Given the description of an element on the screen output the (x, y) to click on. 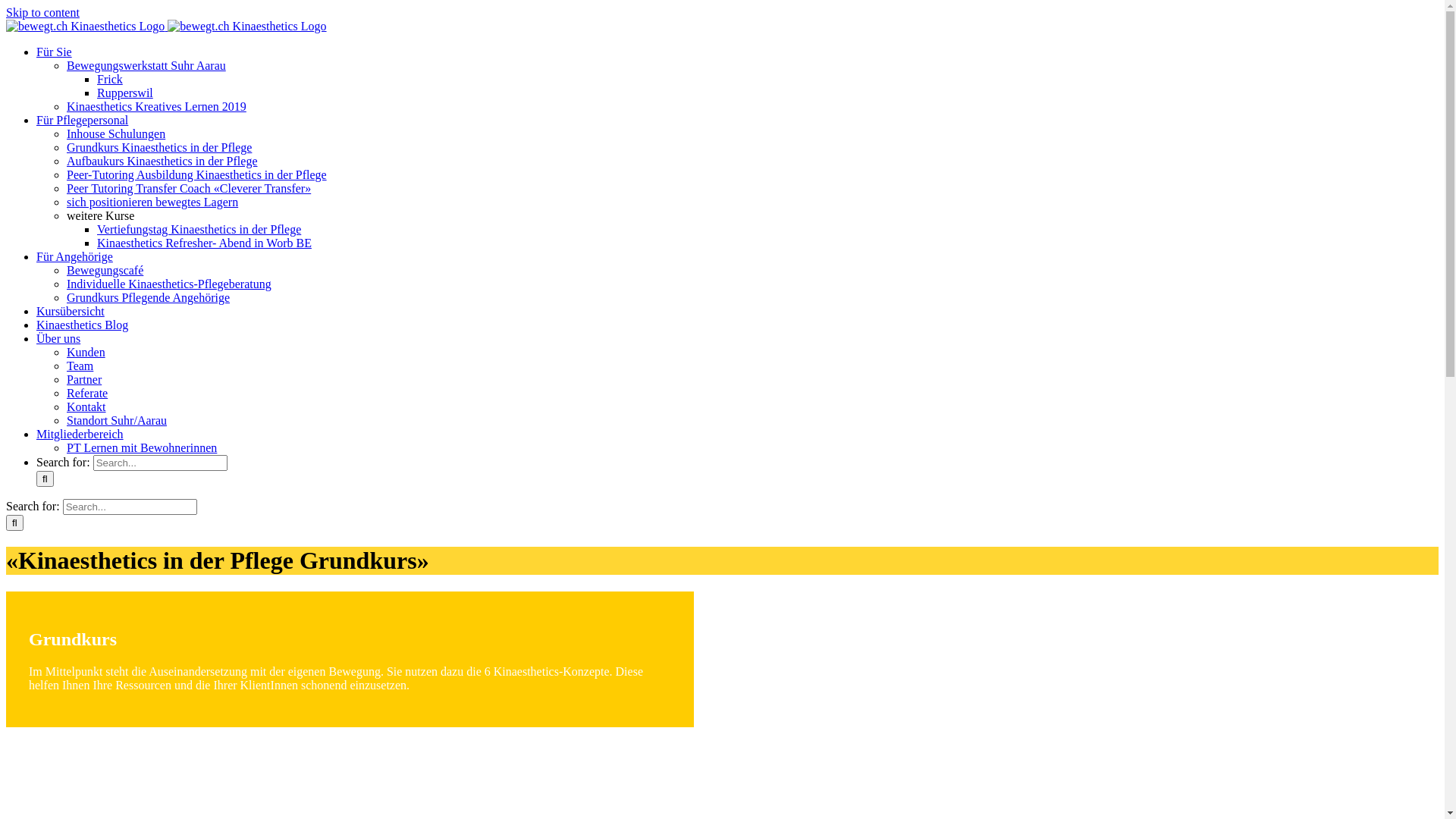
Kunden Element type: text (85, 351)
Inhouse Schulungen Element type: text (115, 133)
Aufbaukurs Kinaesthetics in der Pflege Element type: text (161, 160)
sich positionieren bewegtes Lagern Element type: text (152, 201)
Frick Element type: text (109, 78)
weitere Kurse Element type: text (100, 215)
Rupperswil Element type: text (125, 92)
Kontakt Element type: text (86, 406)
Referate Element type: text (86, 392)
Peer-Tutoring Ausbildung Kinaesthetics in der Pflege Element type: text (196, 174)
Kinaesthetics Kreatives Lernen 2019 Element type: text (156, 106)
Partner Element type: text (83, 379)
PT Lernen mit Bewohnerinnen Element type: text (141, 447)
Team Element type: text (79, 365)
Standort Suhr/Aarau Element type: text (116, 420)
Kinaesthetics Blog Element type: text (82, 324)
Grundkurs Kinaesthetics in der Pflege Element type: text (158, 147)
Bewegungswerkstatt Suhr Aarau Element type: text (145, 65)
Skip to content Element type: text (42, 12)
Mitgliederbereich Element type: text (79, 433)
Individuelle Kinaesthetics-Pflegeberatung Element type: text (168, 283)
Kinaesthetics Refresher- Abend in Worb BE Element type: text (204, 242)
Vertiefungstag Kinaesthetics in der Pflege Element type: text (199, 228)
